Given the description of an element on the screen output the (x, y) to click on. 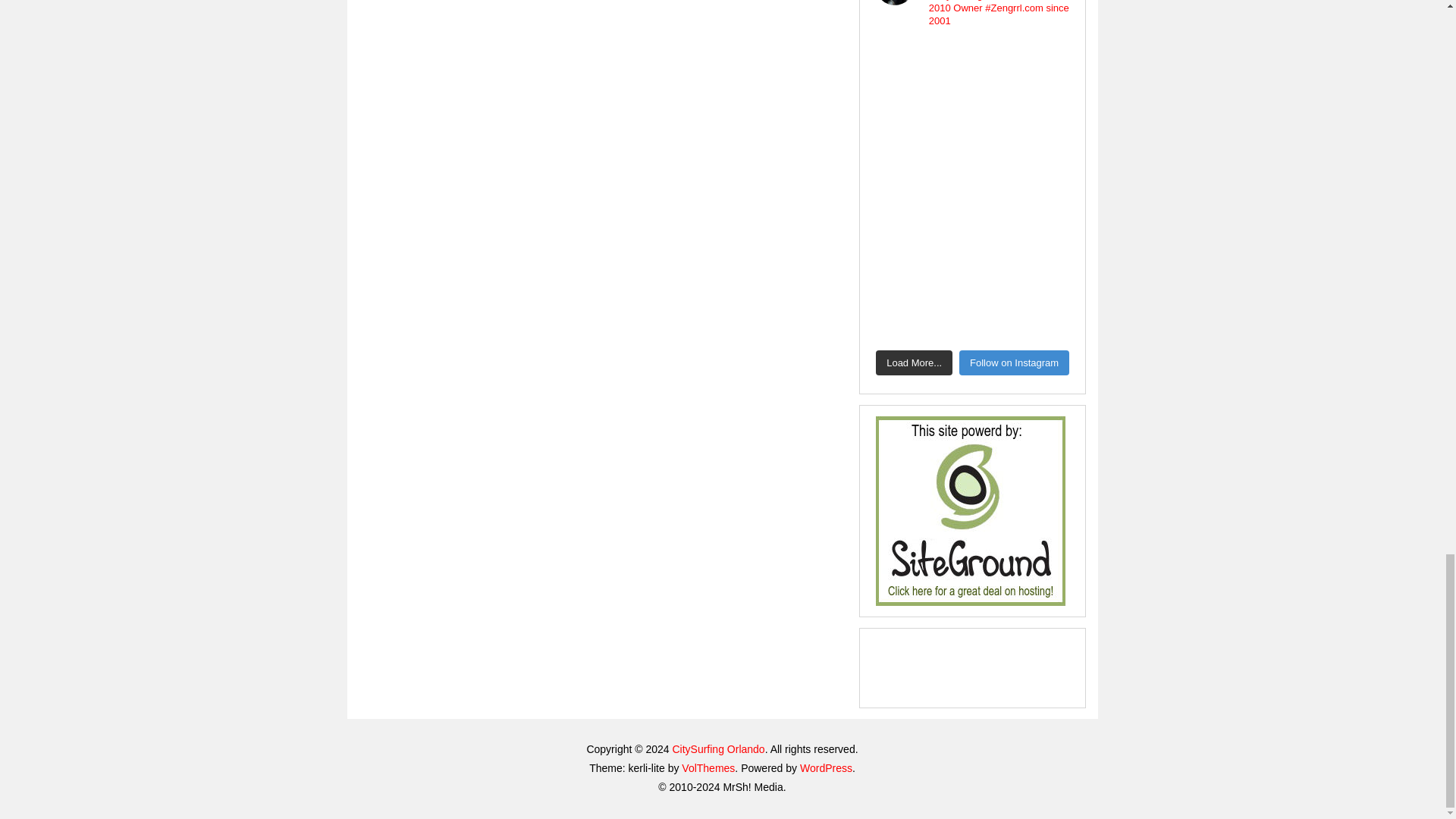
WordPress (825, 767)
CitySurfing Orlando (717, 748)
VolThemes (708, 767)
